Given the description of an element on the screen output the (x, y) to click on. 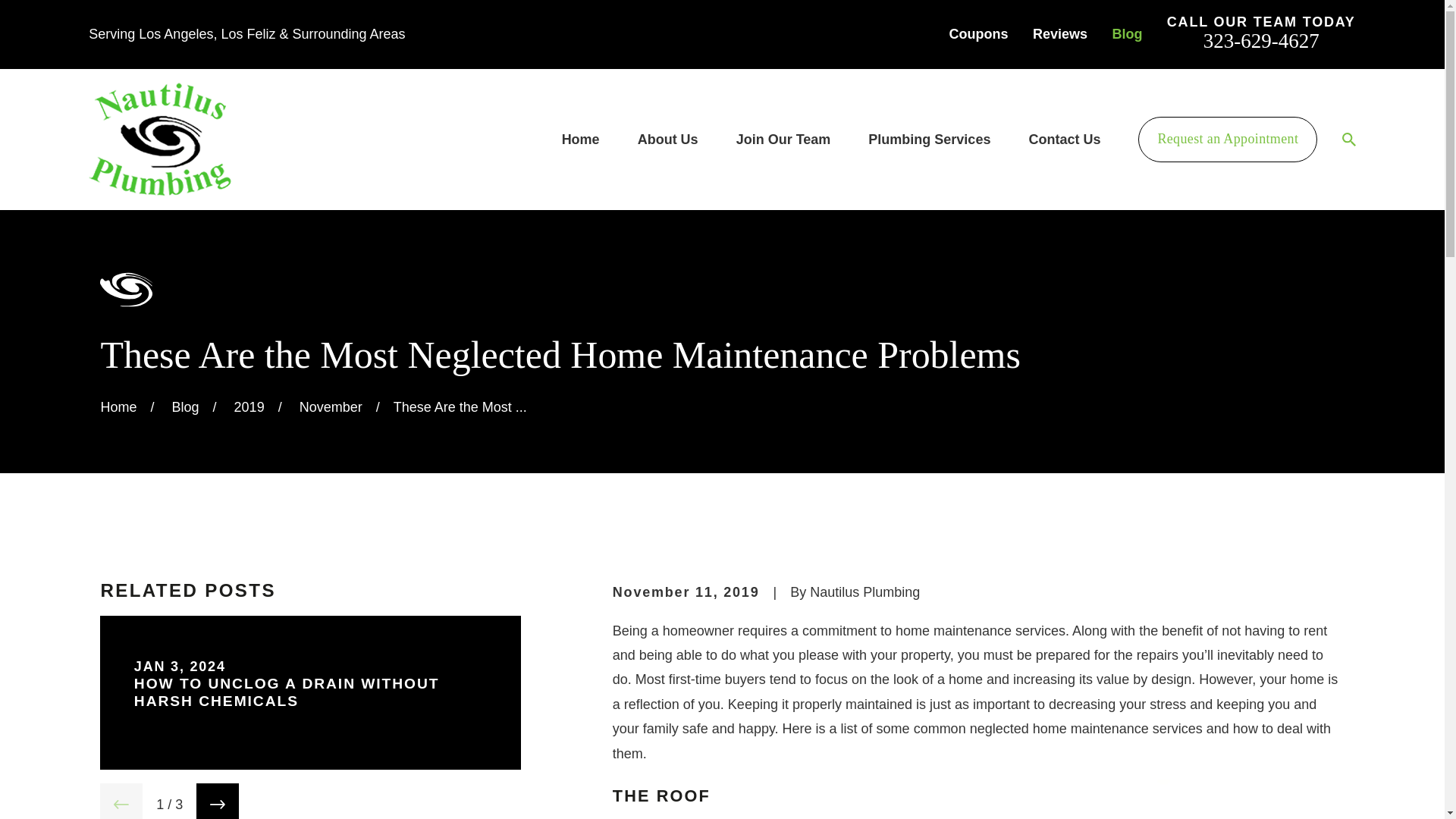
Home (159, 139)
Go Home (118, 406)
Coupons (979, 33)
View next item (217, 800)
Blog (1126, 33)
Contact Us (1063, 139)
About Us (667, 139)
Join Our Team (783, 139)
323-629-4627 (1261, 39)
Reviews (1059, 33)
Plumbing Services (928, 139)
View previous item (121, 800)
